Given the description of an element on the screen output the (x, y) to click on. 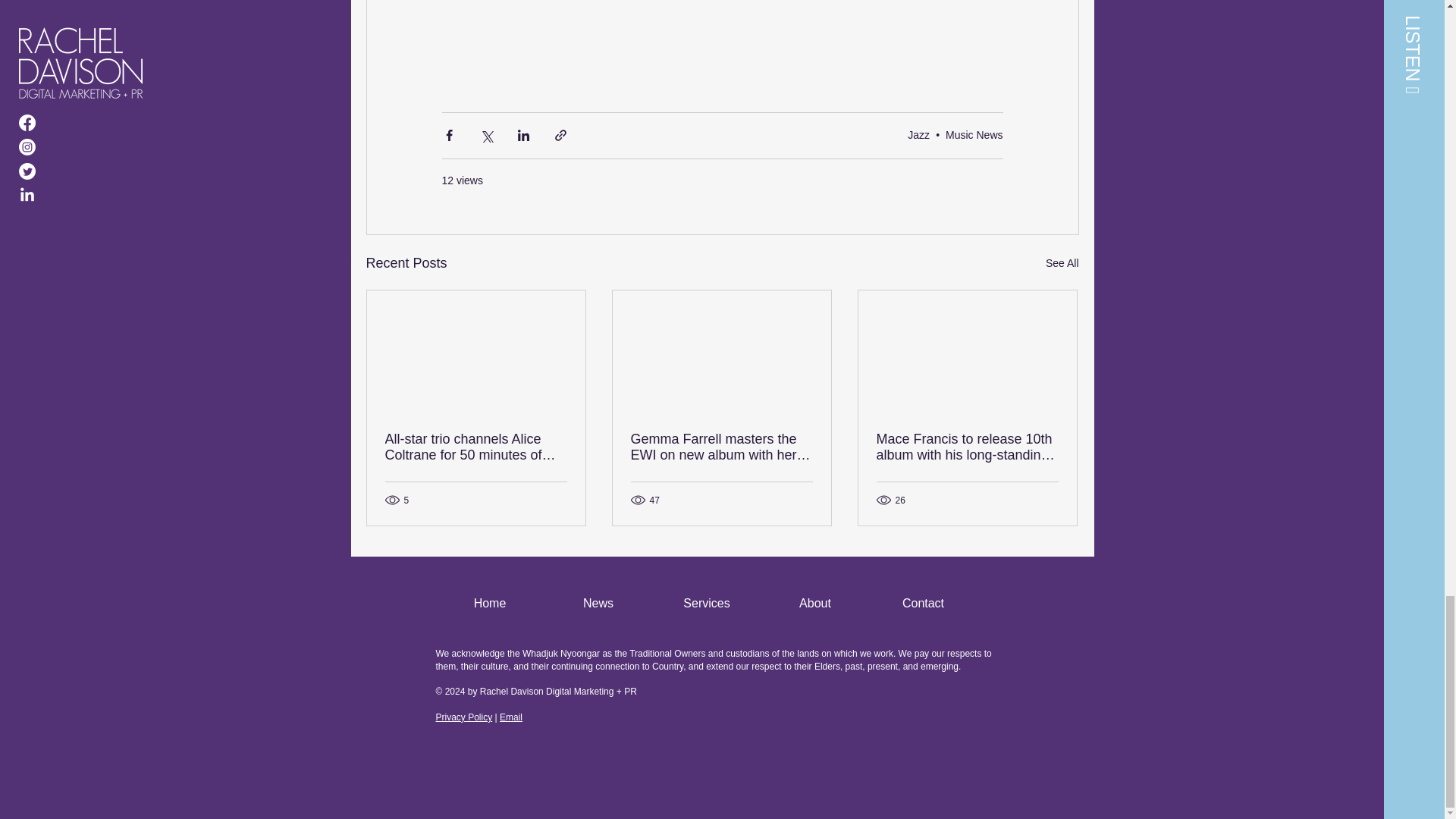
Home (489, 603)
Gemma Farrell masters the EWI on new album with her Quintet (721, 447)
Services (706, 603)
Music News (973, 134)
See All (1061, 263)
Jazz (918, 134)
News (598, 603)
